Given the description of an element on the screen output the (x, y) to click on. 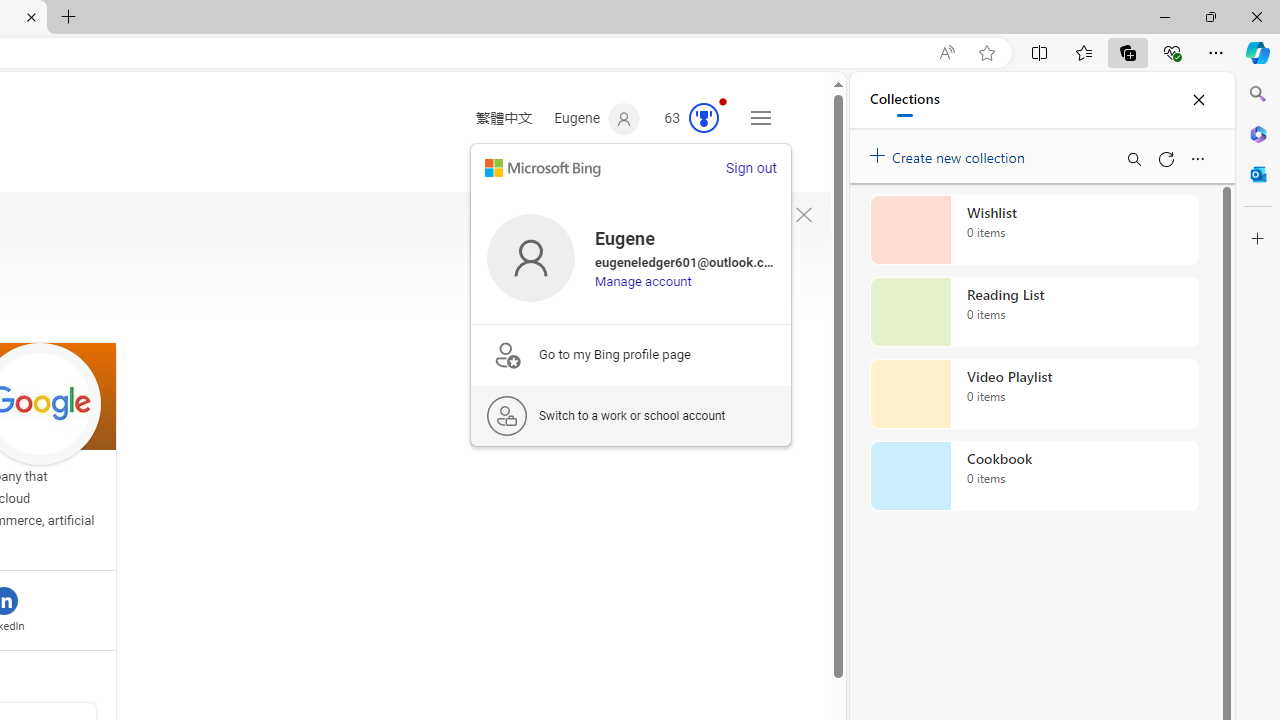
AutomationID: rh_meter (703, 117)
Video Playlist collection, 0 items (1034, 394)
Manage account (643, 281)
microsoft logo (542, 168)
Animation (723, 101)
Reading List collection, 0 items (1034, 312)
Cookbook collection, 0 items (1034, 475)
AutomationID: serp_medal_svg (703, 117)
